Given the description of an element on the screen output the (x, y) to click on. 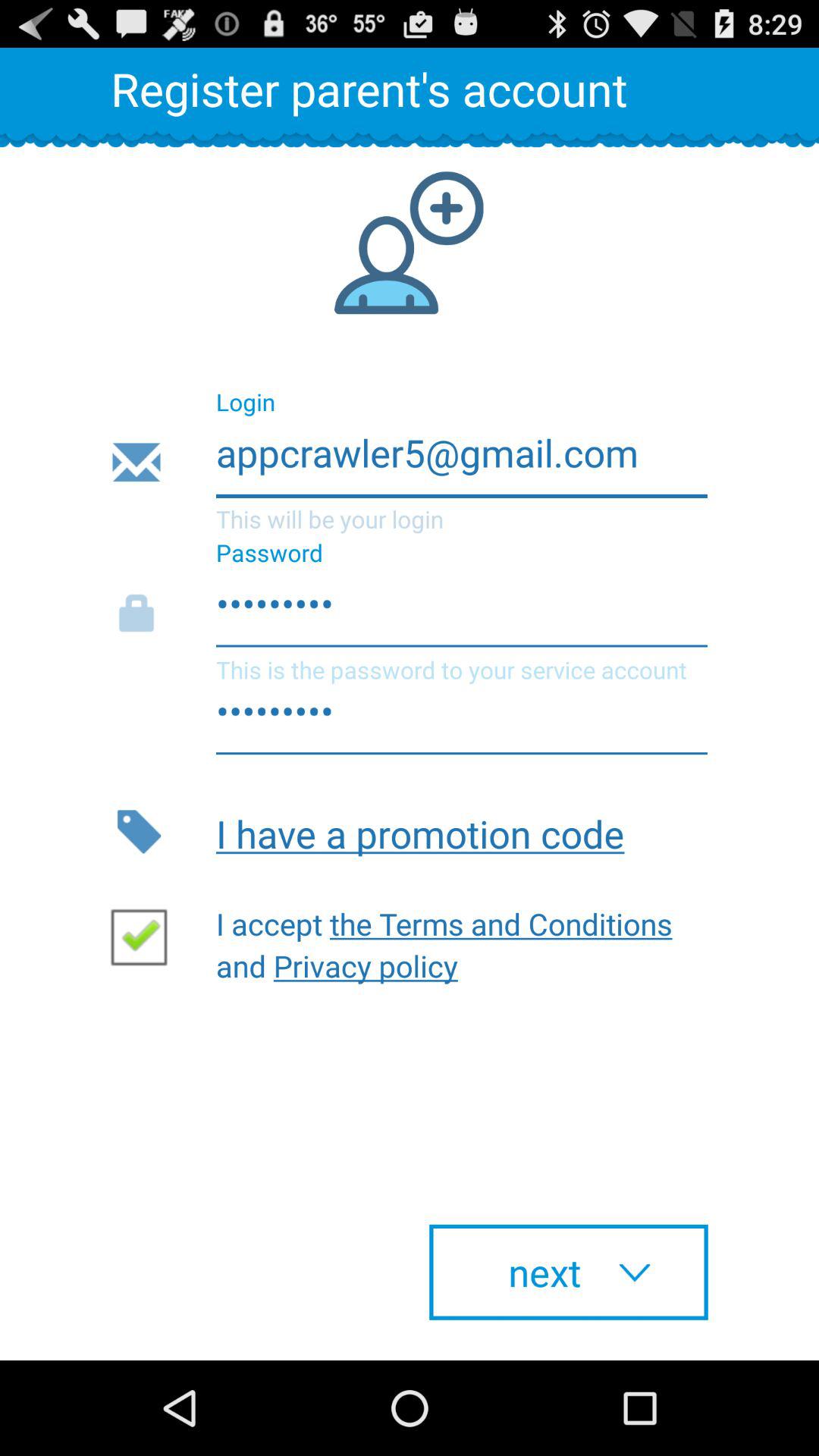
scroll to next icon (568, 1272)
